Given the description of an element on the screen output the (x, y) to click on. 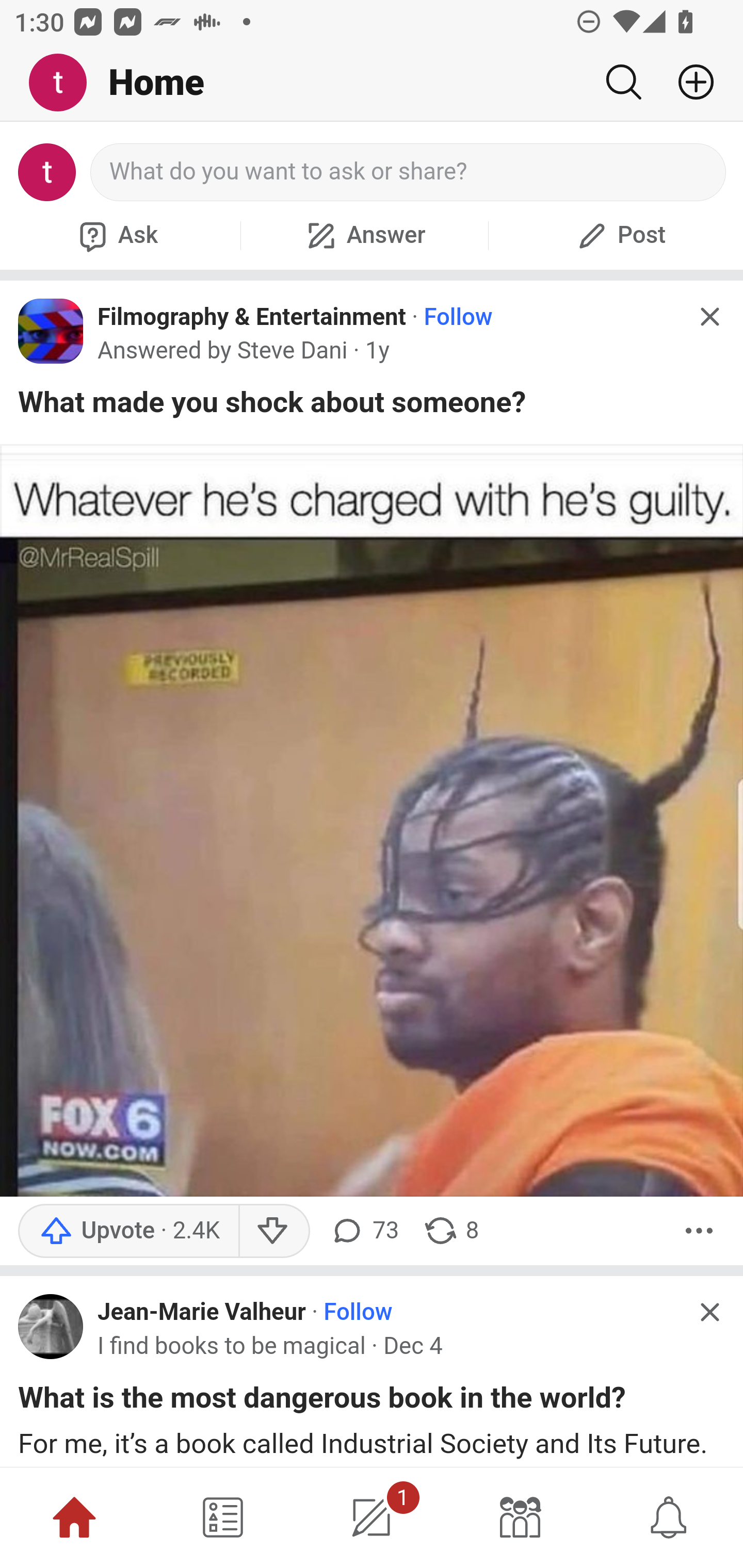
Me (64, 83)
Search (623, 82)
Add (688, 82)
What do you want to ask or share? (408, 172)
Ask (116, 234)
Answer (364, 234)
Post (618, 234)
Hide (709, 316)
Icon for Filmography & Entertainment (50, 330)
Filmography & Entertainment (251, 316)
Follow (457, 316)
Upvote (127, 1230)
Downvote (273, 1230)
73 comments (363, 1230)
8 shares (449, 1230)
More (699, 1230)
Hide (709, 1311)
Profile photo for Jean-Marie Valheur (50, 1326)
Jean-Marie Valheur (201, 1313)
Follow (358, 1313)
1 (371, 1517)
